Given the description of an element on the screen output the (x, y) to click on. 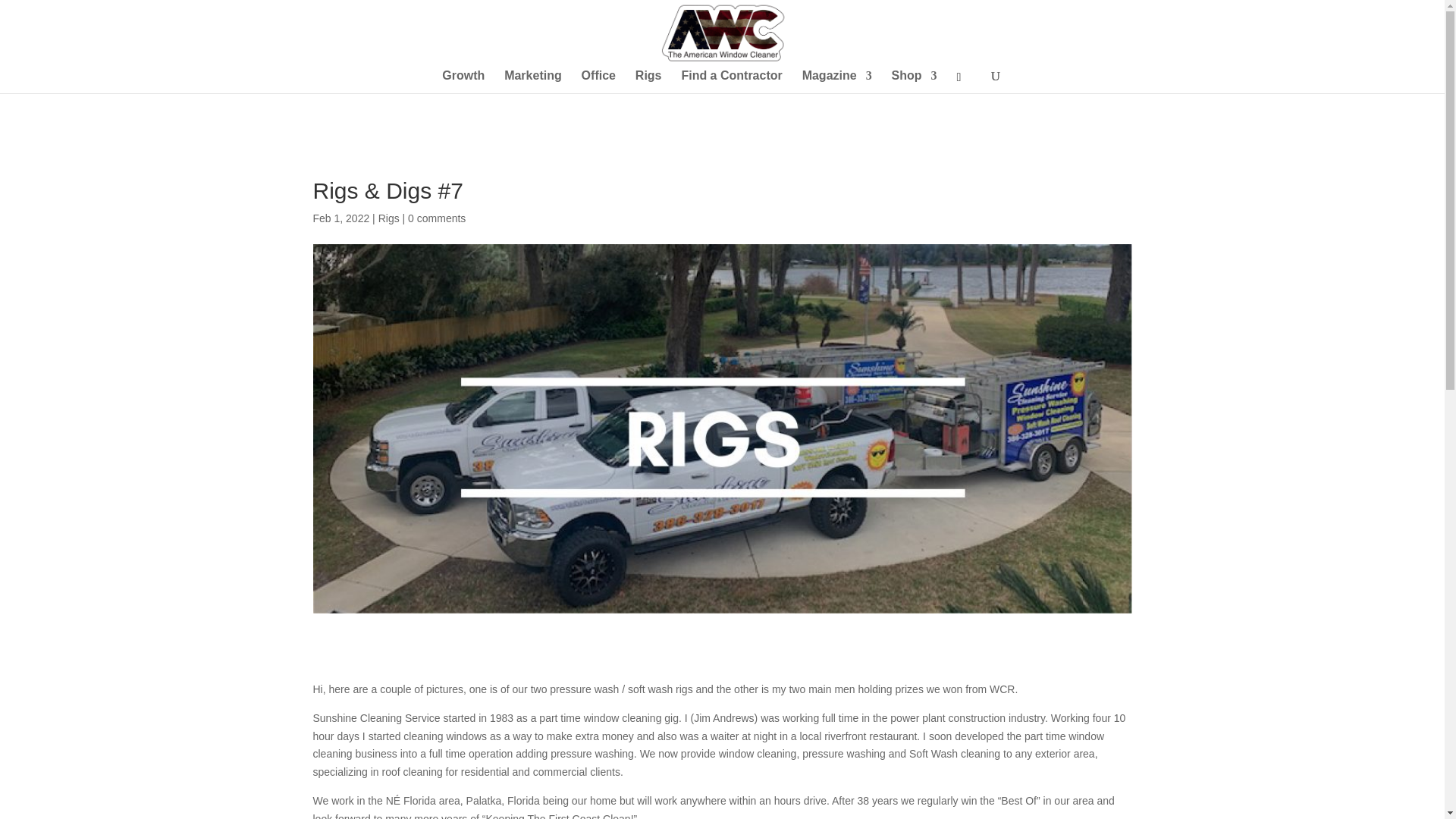
Shop (914, 81)
Magazine (837, 81)
Growth (463, 81)
0 comments (436, 218)
Rigs (648, 81)
Marketing (532, 81)
Rigs (388, 218)
Office (597, 81)
Find a Contractor (731, 81)
